Given the description of an element on the screen output the (x, y) to click on. 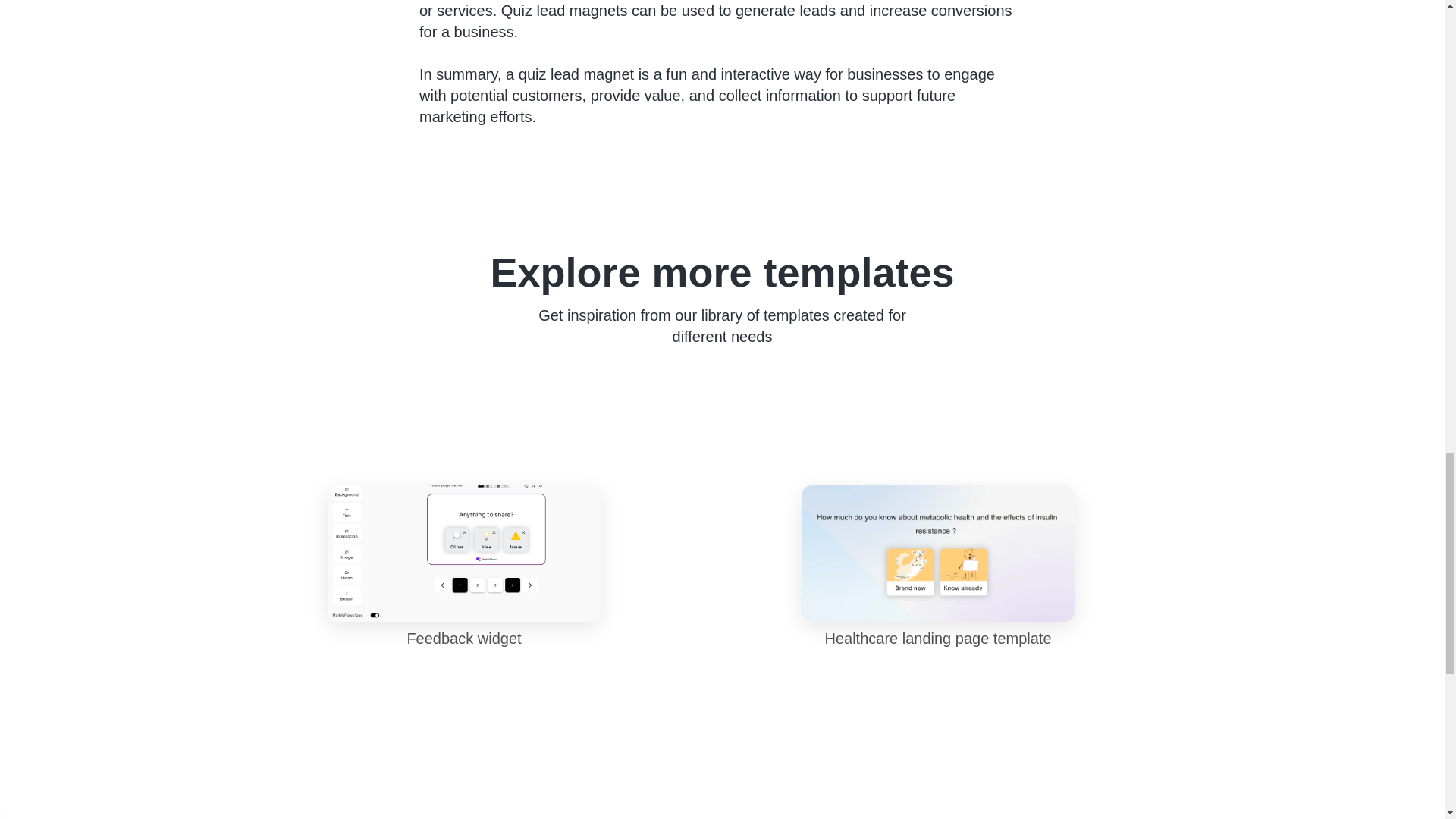
Feedback widget (464, 566)
Healthcare landing page template (937, 566)
